Given the description of an element on the screen output the (x, y) to click on. 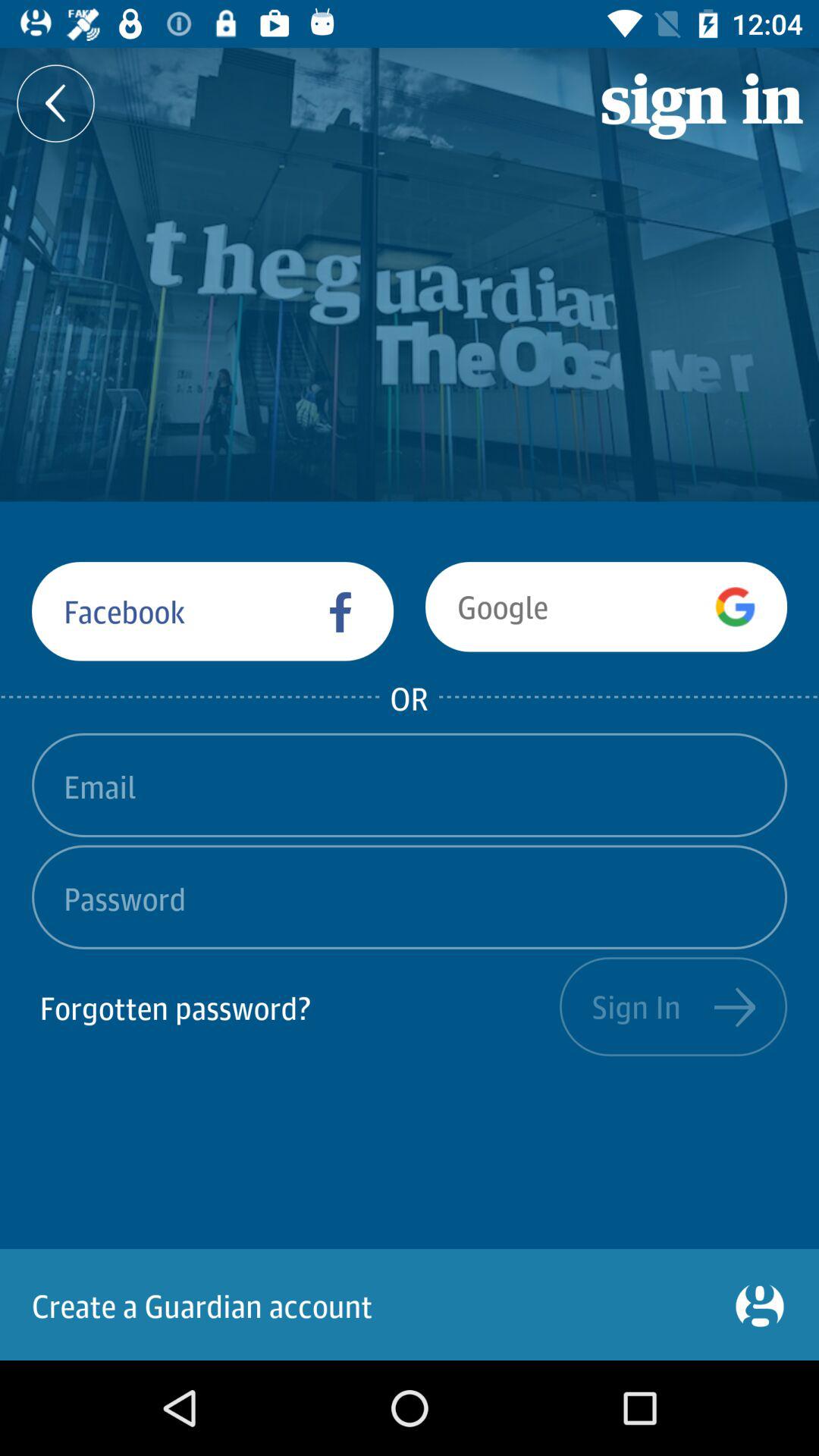
username field (409, 785)
